Given the description of an element on the screen output the (x, y) to click on. 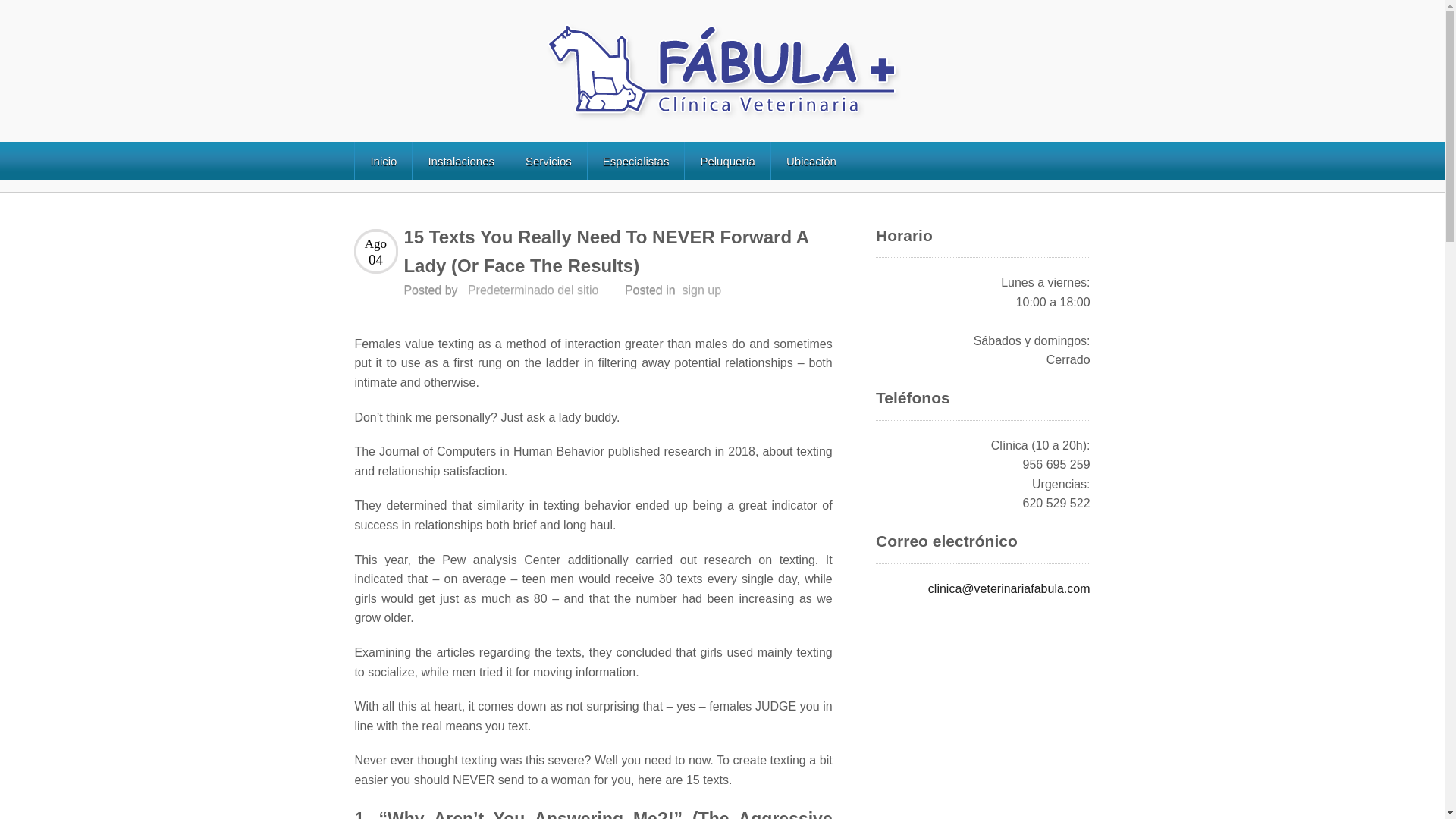
Instalaciones (460, 160)
Especialistas (635, 160)
Servicios (547, 160)
Inicio (382, 160)
Predeterminado del sitio (532, 289)
sign up (702, 289)
Entradas de Predeterminado del sitio (532, 289)
